Given the description of an element on the screen output the (x, y) to click on. 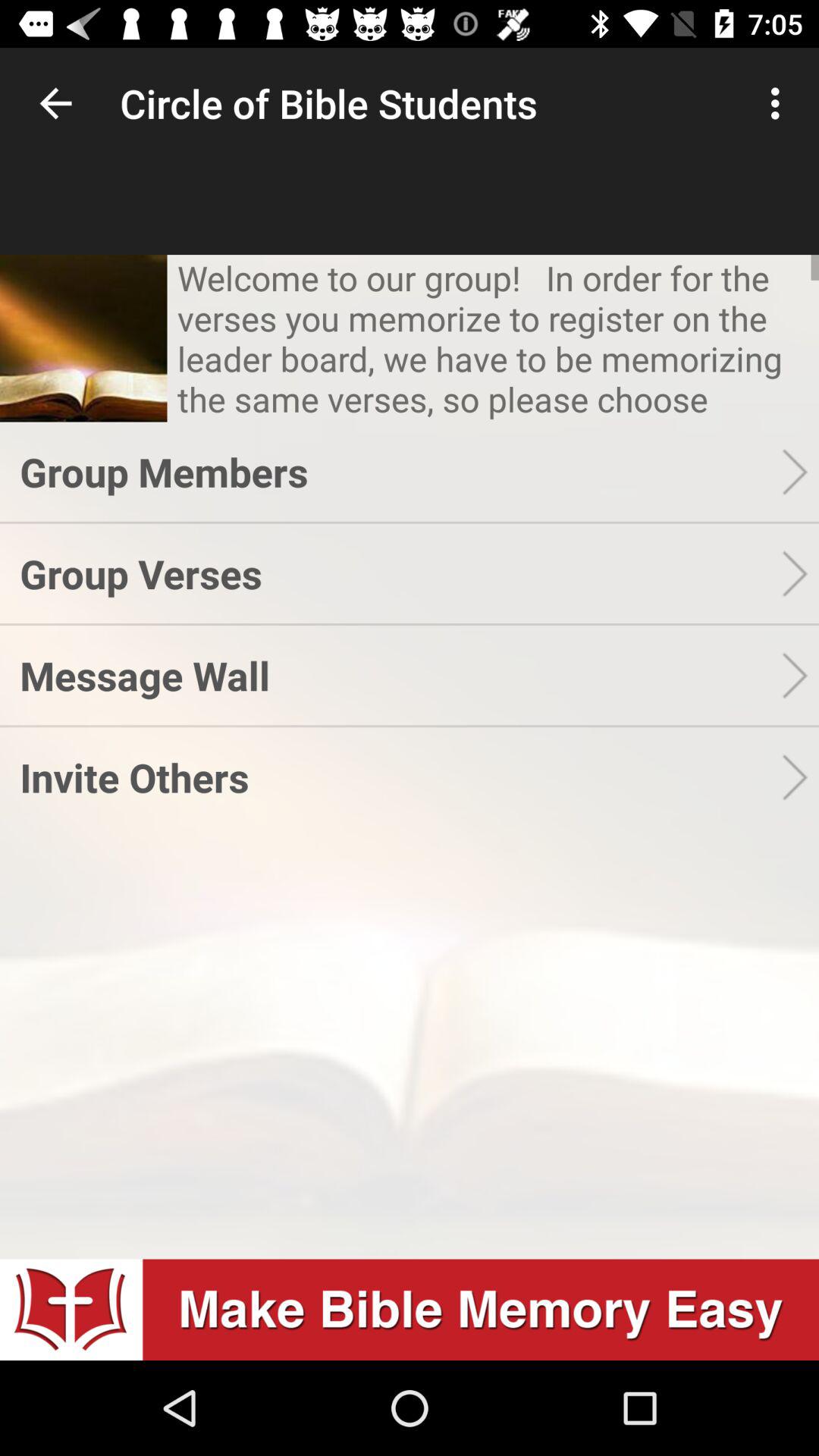
launch the invite others icon (399, 776)
